Given the description of an element on the screen output the (x, y) to click on. 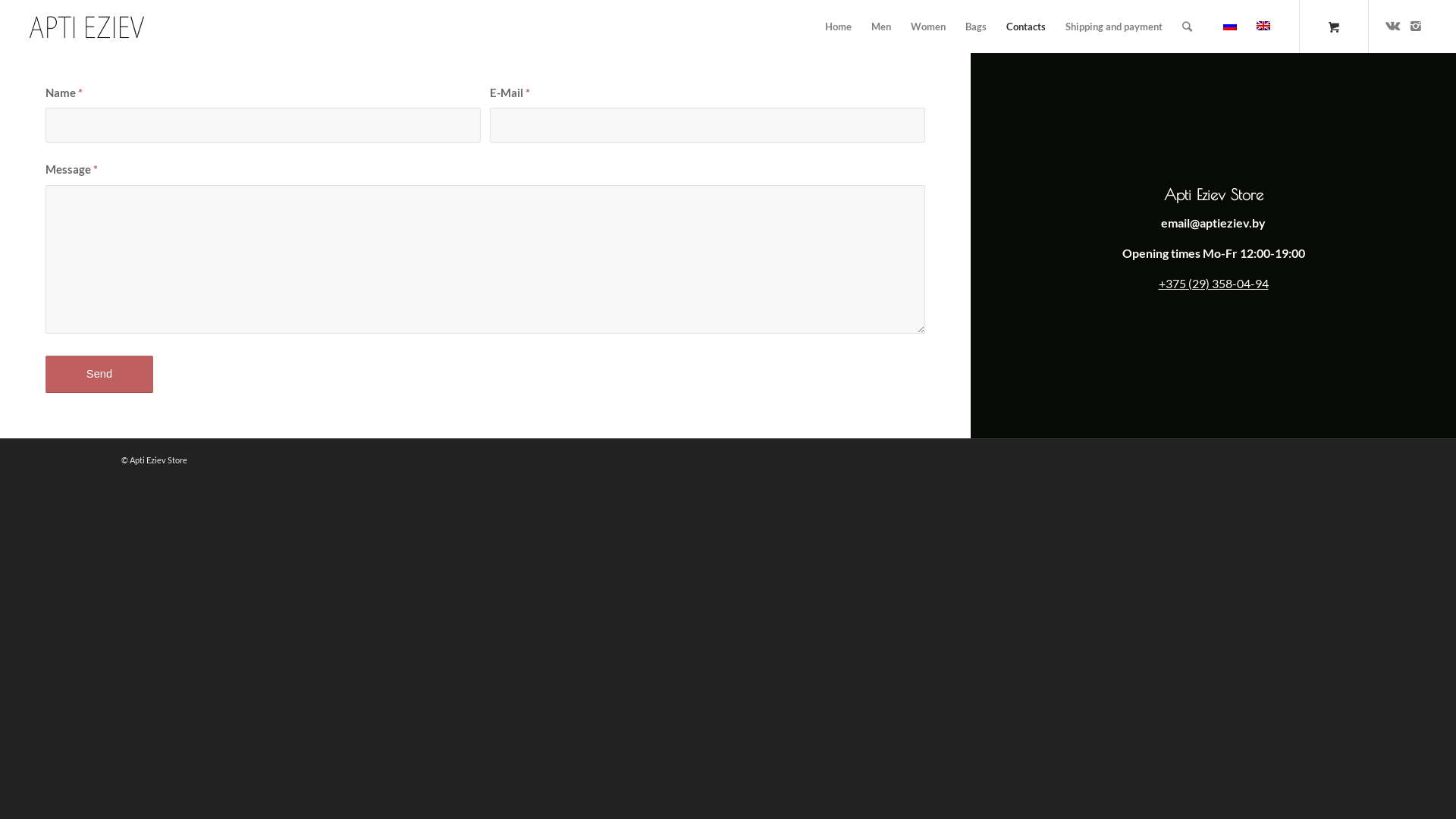
Instagram Element type: hover (1415, 25)
Send Element type: text (99, 373)
Vk Element type: hover (1392, 25)
Women Element type: text (927, 26)
Home Element type: text (838, 26)
English Element type: hover (1263, 25)
+375 (29) 358-04-94 Element type: text (1213, 283)
Bags Element type: text (975, 26)
Men Element type: text (880, 26)
Shipping and payment Element type: text (1113, 26)
Contacts Element type: text (1025, 26)
